Given the description of an element on the screen output the (x, y) to click on. 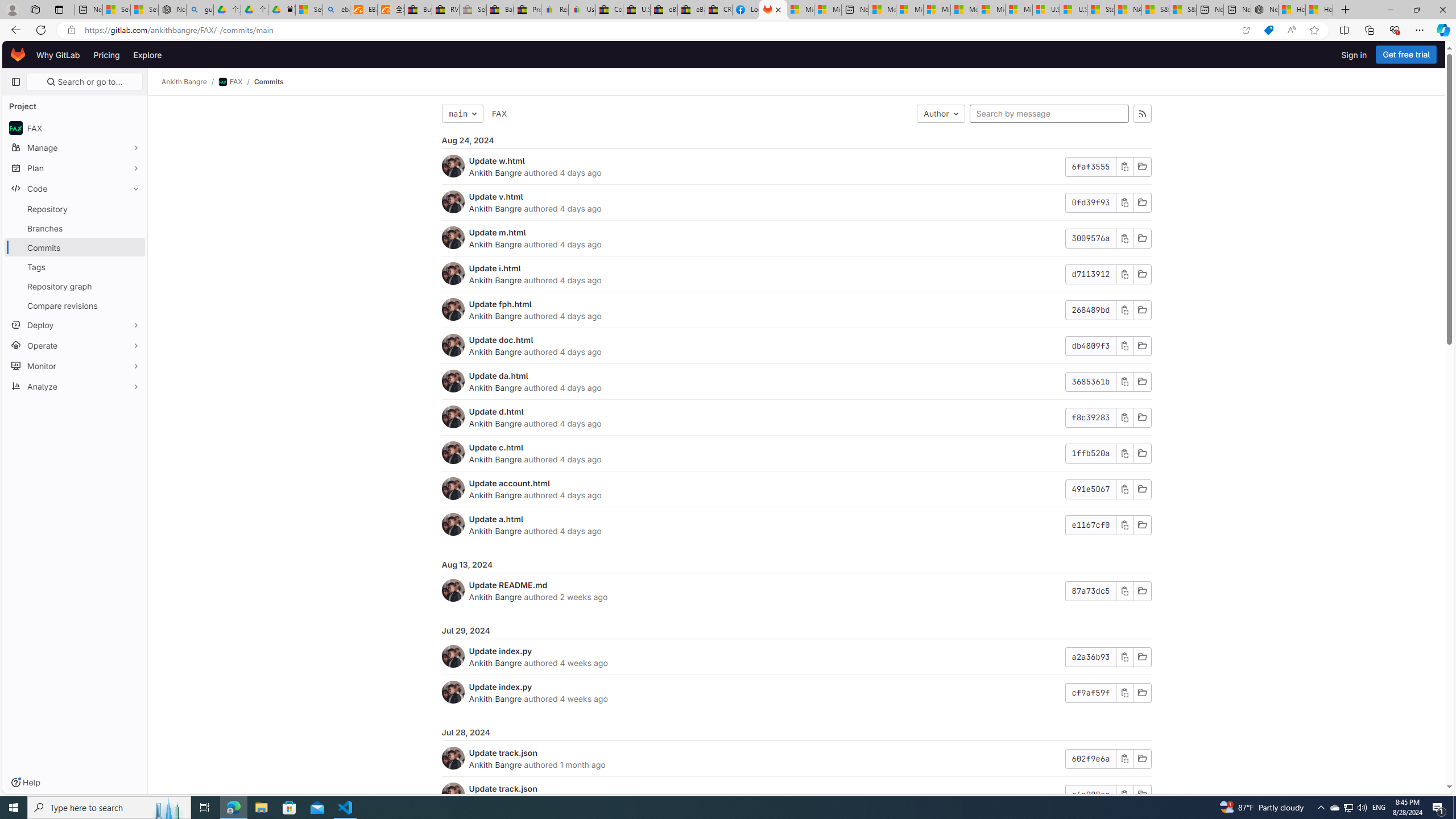
Operate (74, 344)
Update a.htmlAnkith Bangre authored 4 days agoe1167cf0 (796, 524)
Aug 13, 2024 (796, 564)
Plan (74, 167)
Repository (74, 208)
Search by message (1048, 113)
Primary navigation sidebar (15, 81)
eBay Inc. Reports Third Quarter 2023 Results (691, 9)
Monitor (74, 365)
Analyze (74, 385)
Homepage (17, 54)
Ankith Bangre/ (189, 81)
Jul 28, 2024 (796, 732)
